Given the description of an element on the screen output the (x, y) to click on. 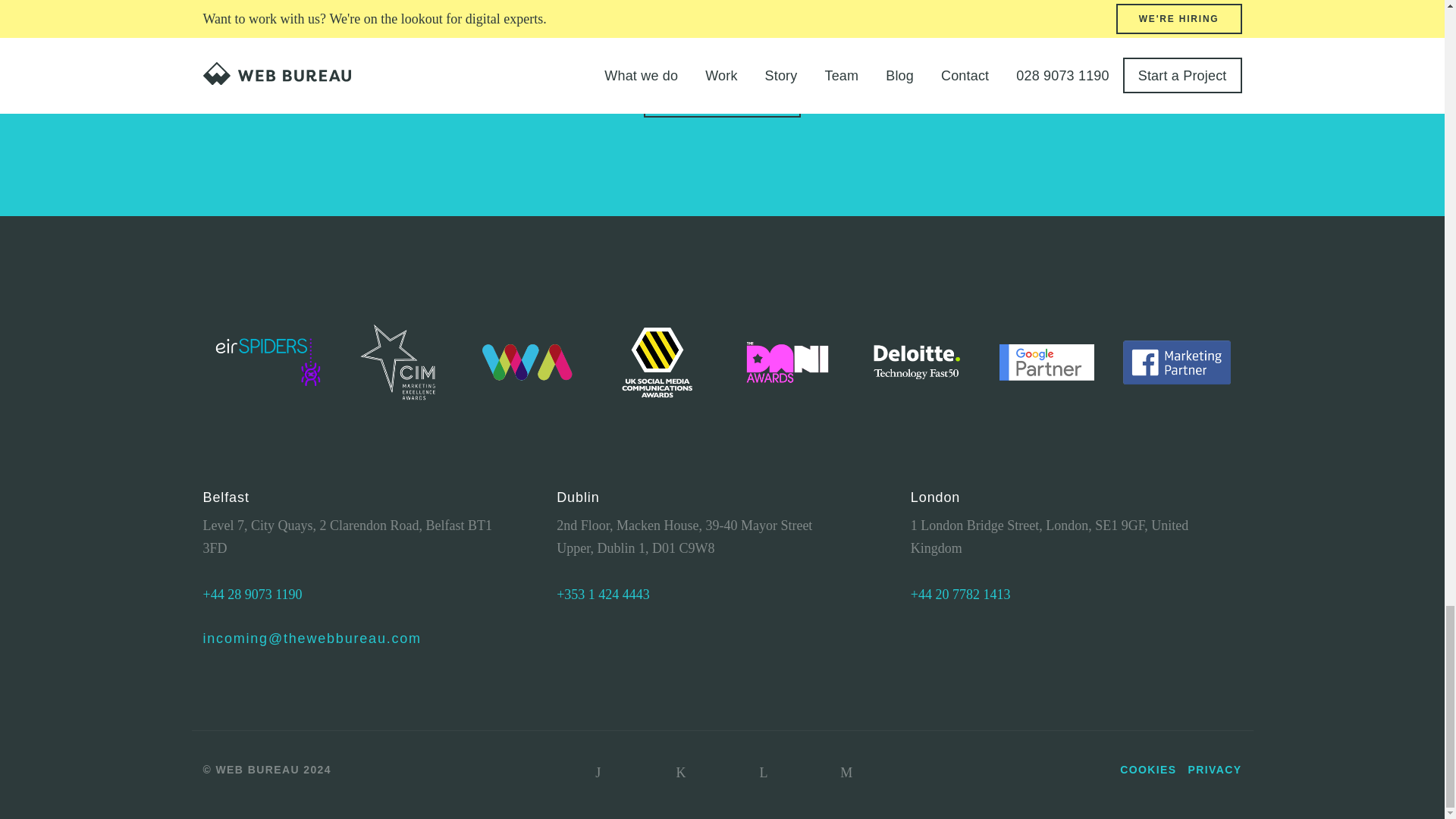
J (597, 772)
